Given the description of an element on the screen output the (x, y) to click on. 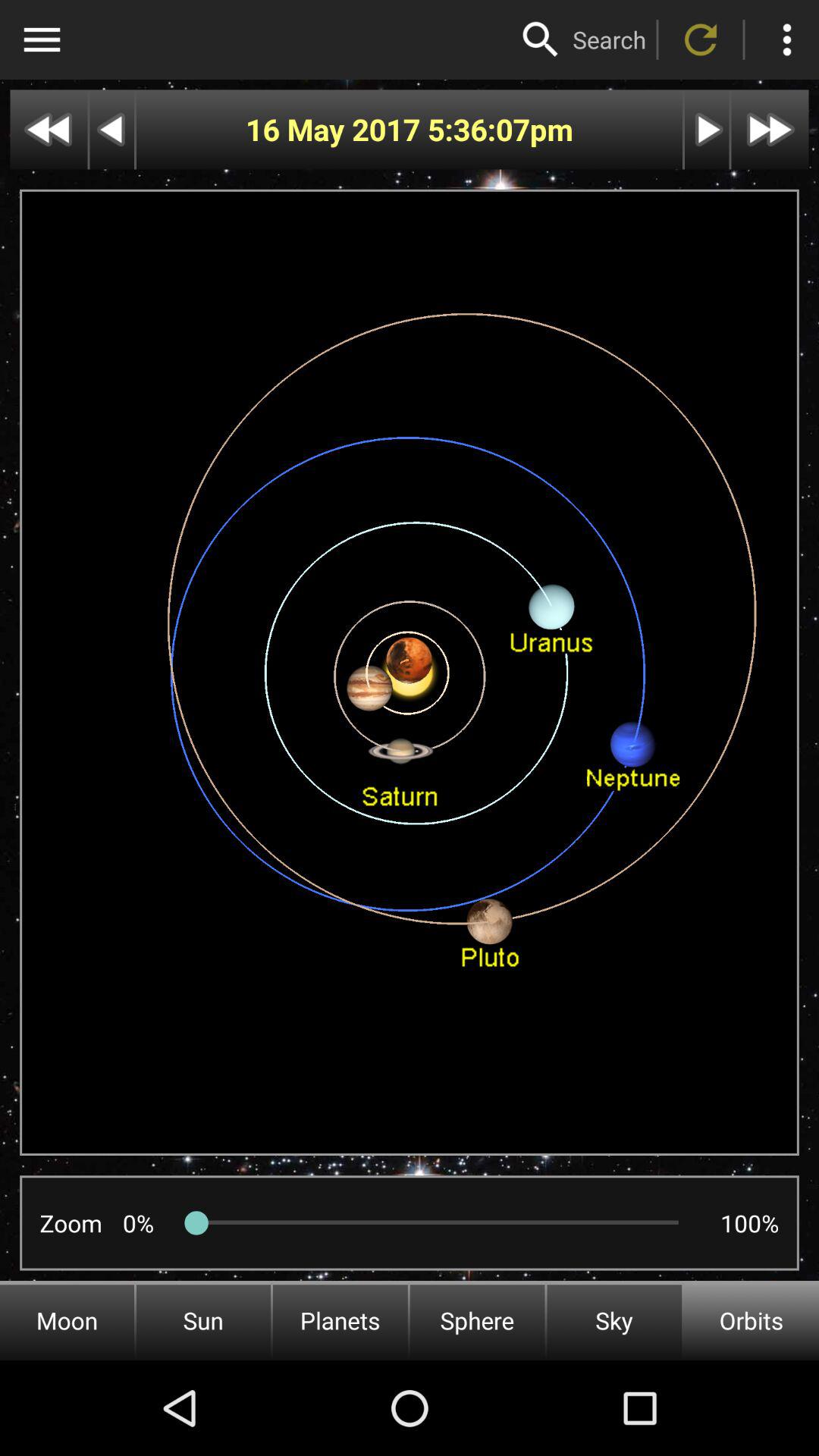
see more options (787, 39)
